Given the description of an element on the screen output the (x, y) to click on. 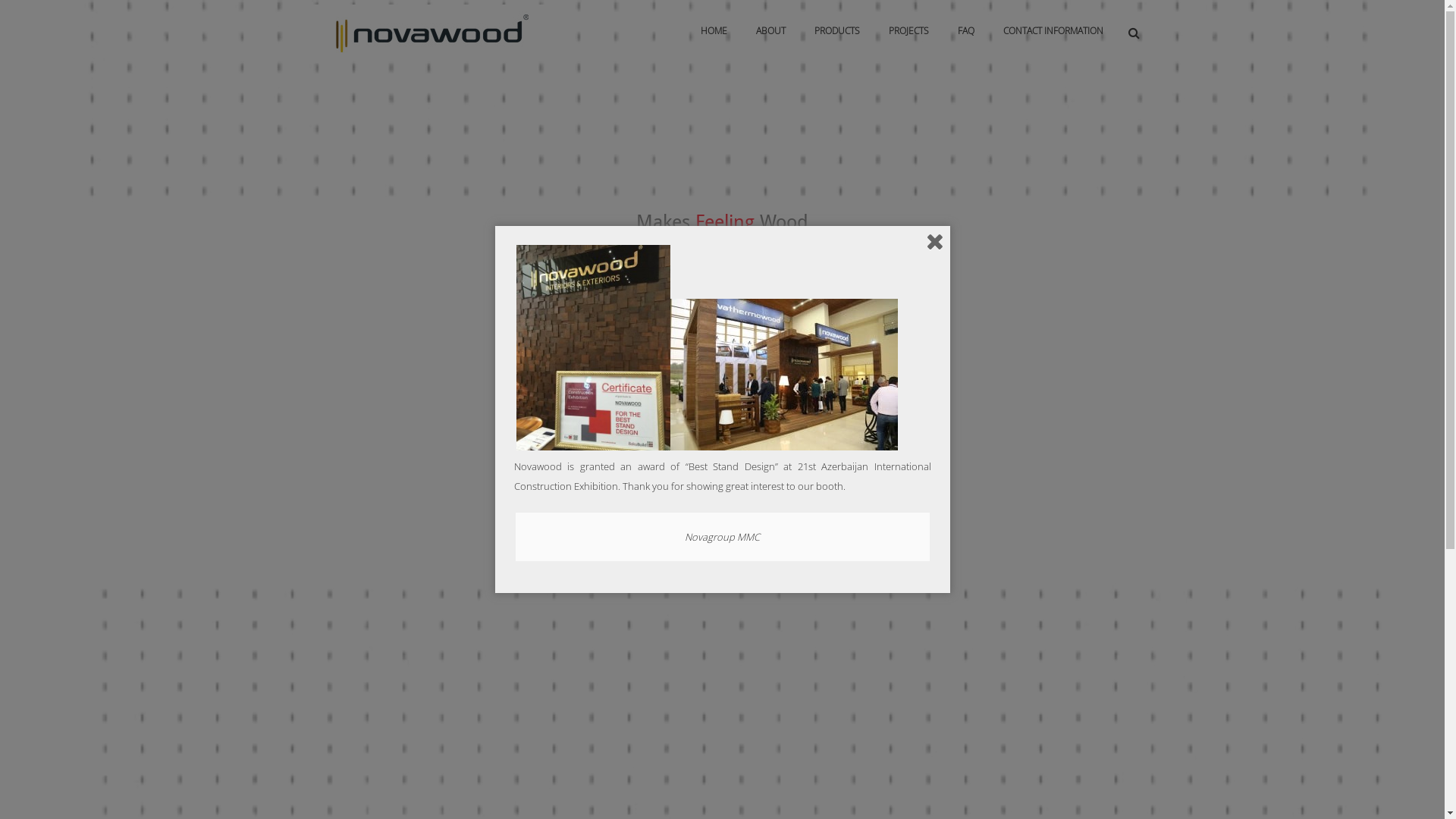
Novagroup MMC Element type: text (721, 536)
HOME Element type: text (713, 31)
FAQ Element type: text (965, 31)
PRODUCTS Element type: text (836, 31)
PROJECTS Element type: text (908, 31)
CONTACT INFORMATION Element type: text (1053, 31)
Novawood Azerbaijan - Novagroup MMC Element type: hover (430, 30)
ABOUT Element type: text (770, 31)
